Given the description of an element on the screen output the (x, y) to click on. 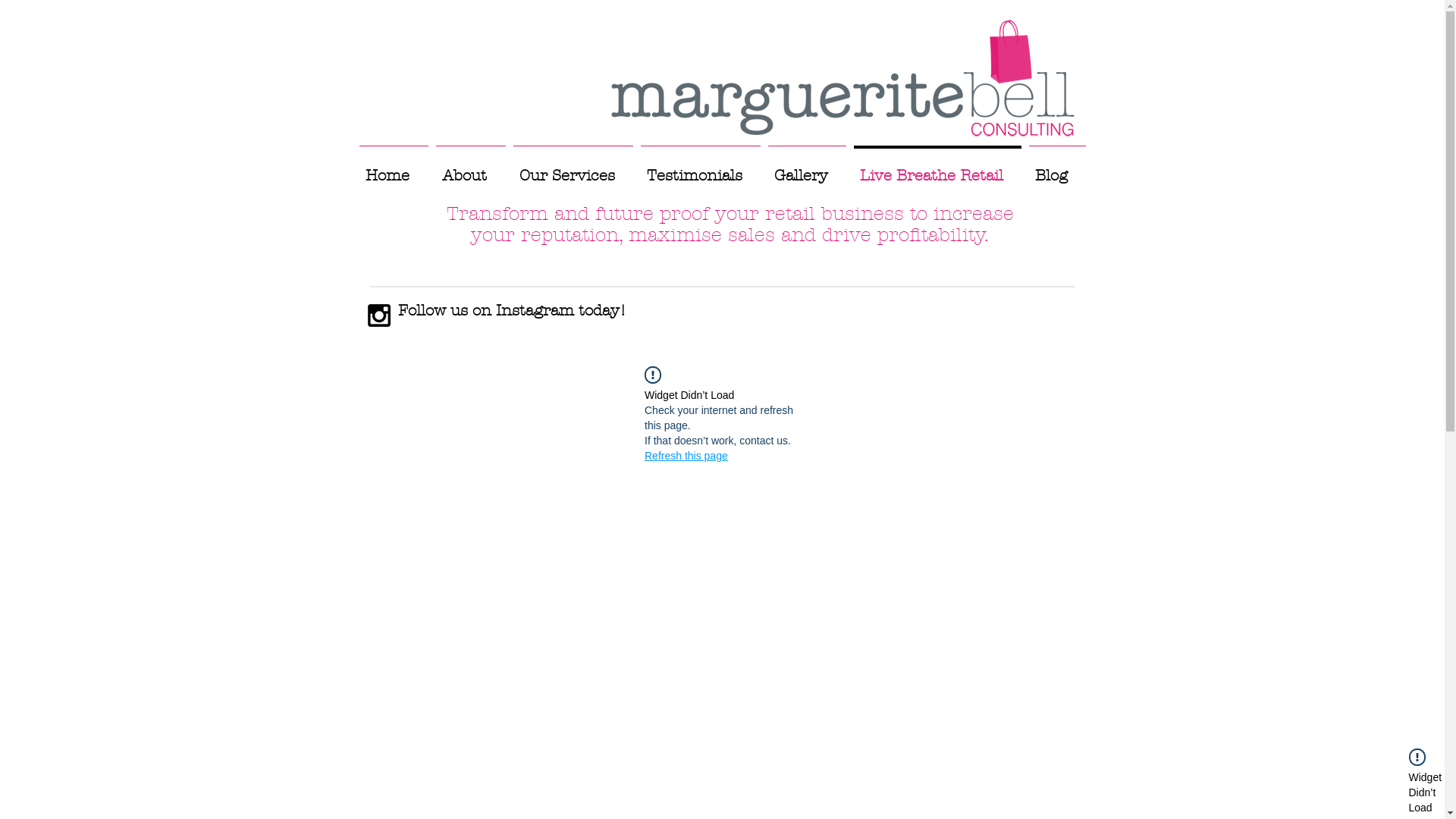
Home Element type: text (392, 168)
Live Breathe Retail Element type: text (936, 168)
Gallery Element type: text (807, 168)
Refresh this page Element type: text (686, 455)
Blog Element type: text (1057, 168)
Our Services Element type: text (573, 168)
About Element type: text (470, 168)
Testimonials Element type: text (700, 168)
